Given the description of an element on the screen output the (x, y) to click on. 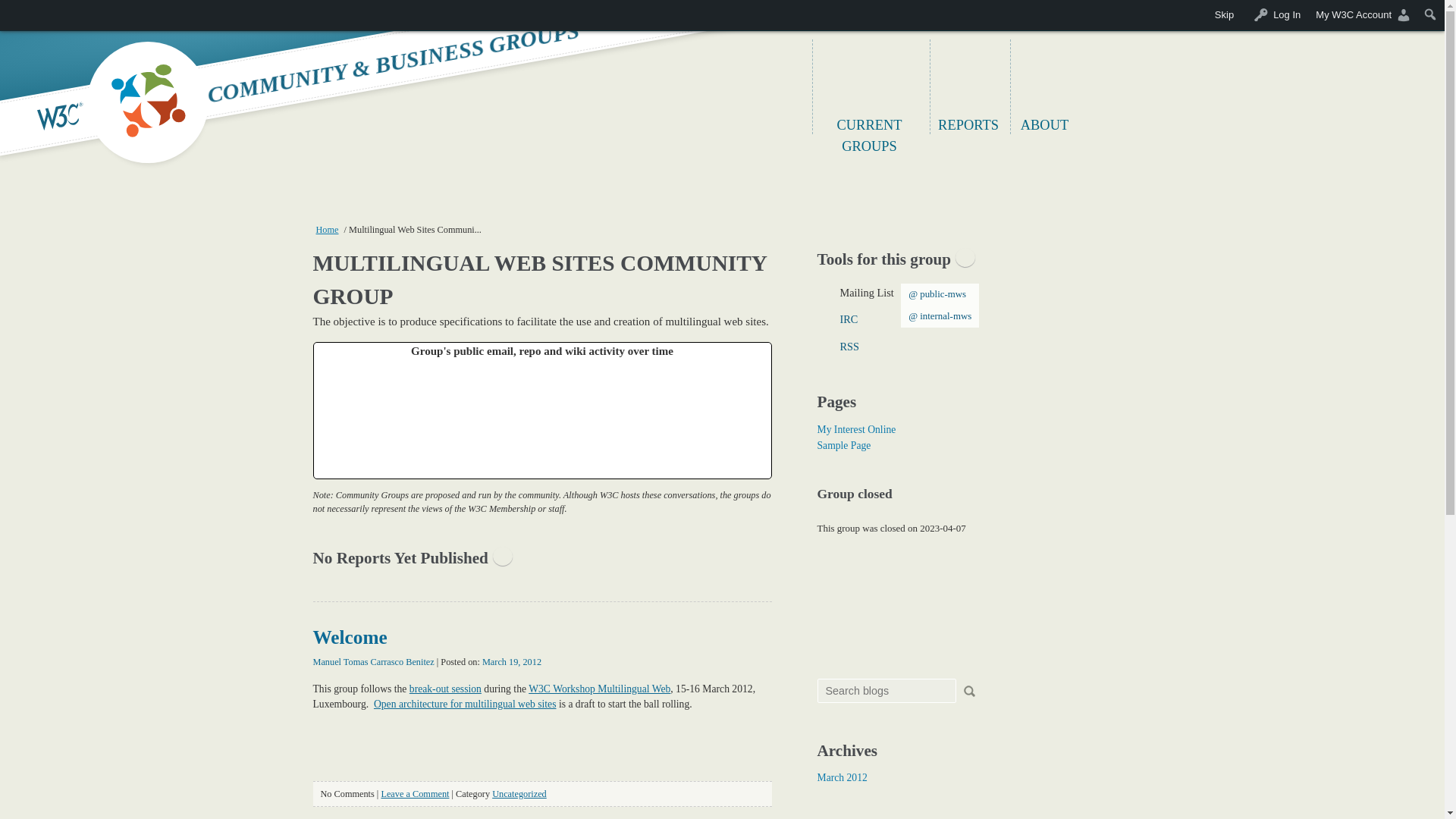
Search (16, 13)
Manuel Tomas Carrasco Benitez (373, 661)
March 19, 2012 (511, 661)
Home (326, 229)
public-mws mailing list archive (943, 294)
Uncategorized (519, 793)
My W3C Account (1362, 15)
Welcome (350, 636)
Skip (1224, 15)
Permanent Link to Welcome (350, 636)
Log In (1274, 15)
RSS (996, 347)
Open architecture for multilingual web sites (465, 704)
internal-mws mailing list archive (943, 316)
Leave a Comment (414, 793)
